Given the description of an element on the screen output the (x, y) to click on. 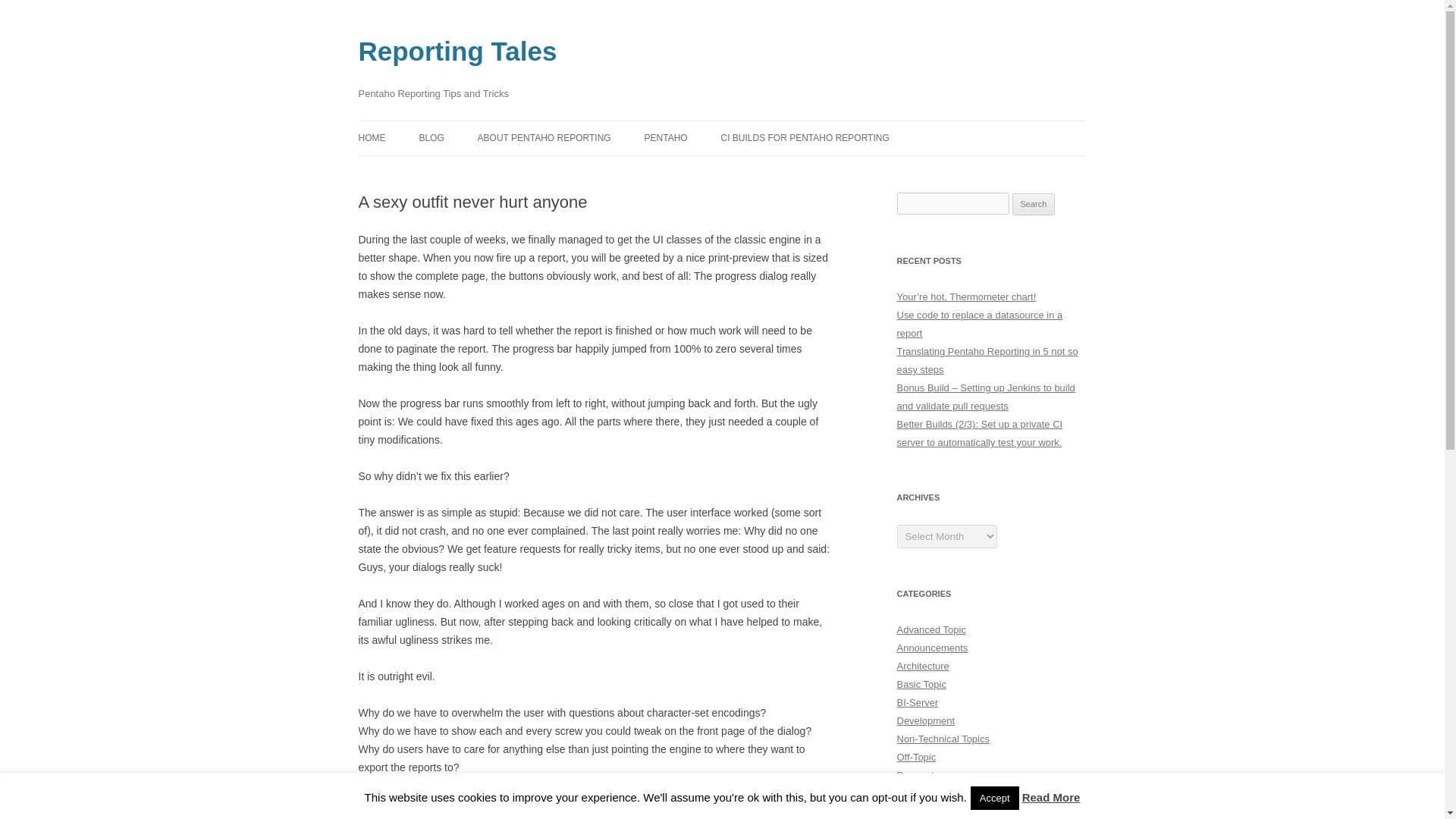
Use code to replace a datasource in a report (979, 324)
Search (1033, 204)
DOCUMENTATION (552, 170)
Translating Pentaho Reporting in 5 not so easy steps (986, 360)
Architecture (922, 665)
Search (1033, 204)
CI BUILDS FOR PENTAHO REPORTING (804, 137)
Reporting Tales (457, 51)
ABOUT PENTAHO REPORTING (544, 137)
